Given the description of an element on the screen output the (x, y) to click on. 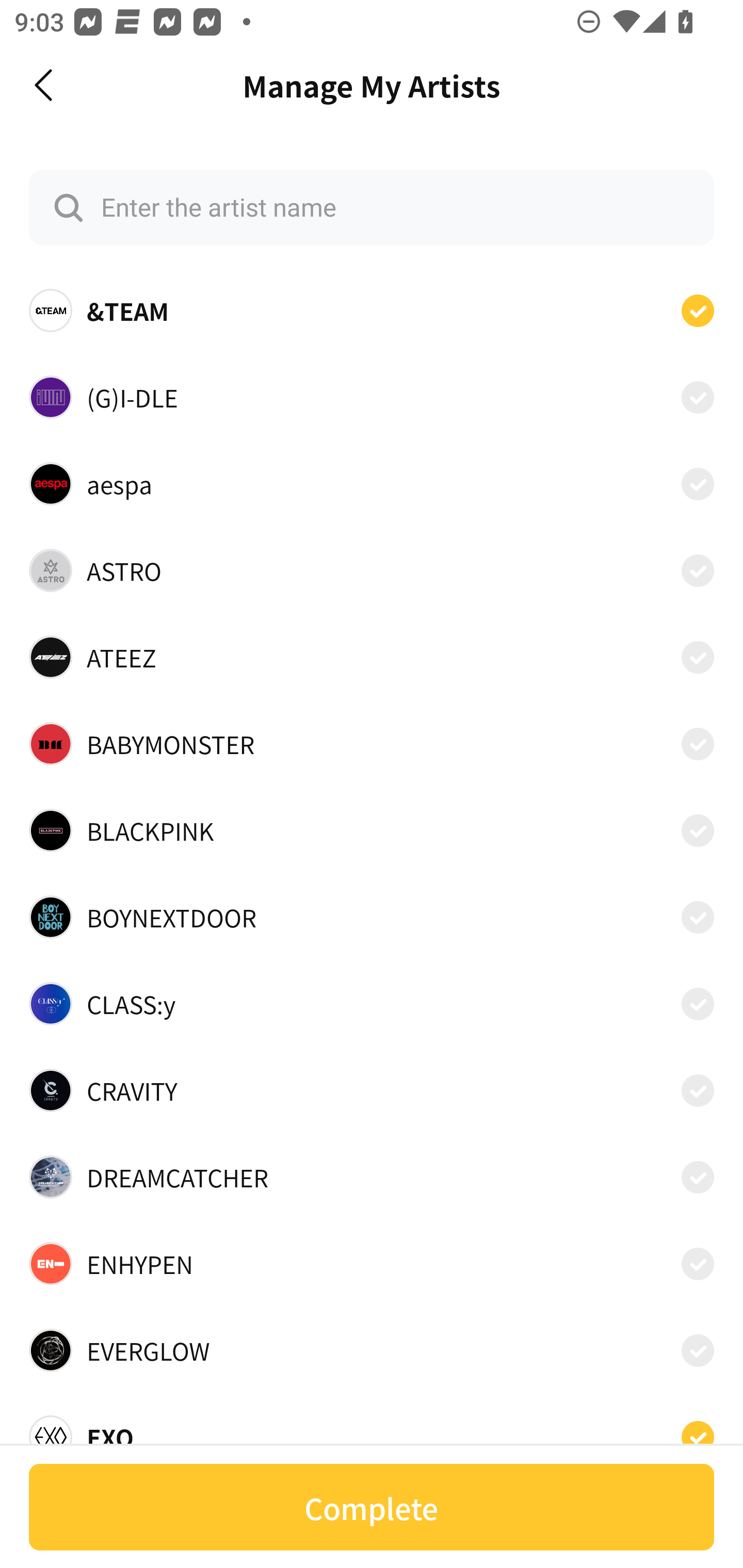
Enter the artist name (371, 207)
&TEAM (371, 310)
(G)I-DLE (371, 396)
aespa (371, 483)
ASTRO (371, 570)
ATEEZ (371, 656)
BABYMONSTER (371, 743)
BLACKPINK (371, 830)
BOYNEXTDOOR (371, 917)
CLASS:y (371, 1003)
CRAVITY (371, 1090)
DREAMCATCHER (371, 1176)
ENHYPEN (371, 1263)
EVERGLOW (371, 1350)
EXO (371, 1430)
Complete (371, 1507)
